Given the description of an element on the screen output the (x, y) to click on. 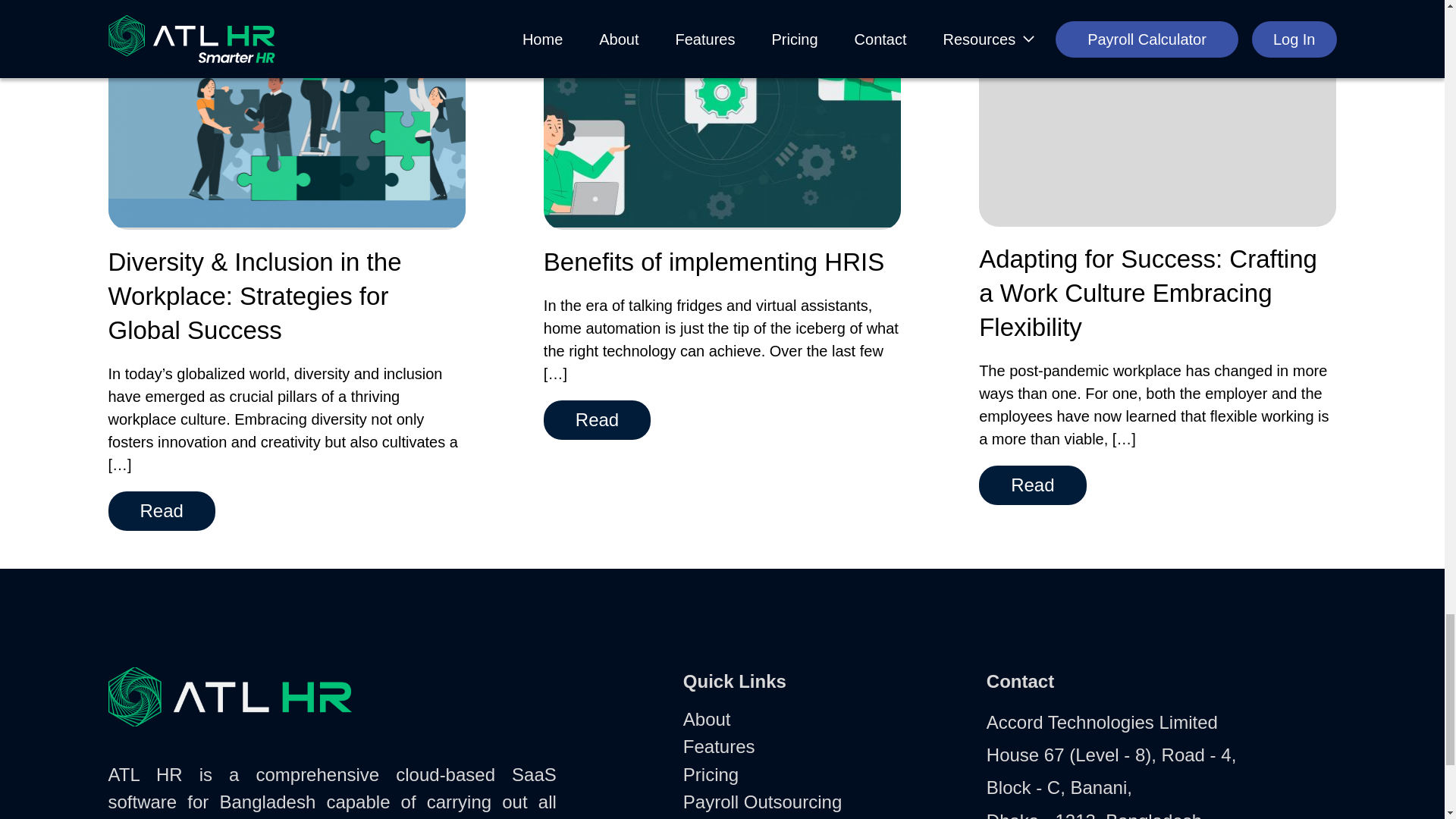
Features (718, 746)
About (706, 719)
Pricing (710, 774)
Benefits of implementing HRIS (713, 262)
Read (160, 510)
Payroll Outsourcing (761, 801)
Read (596, 419)
Read (1032, 485)
